Given the description of an element on the screen output the (x, y) to click on. 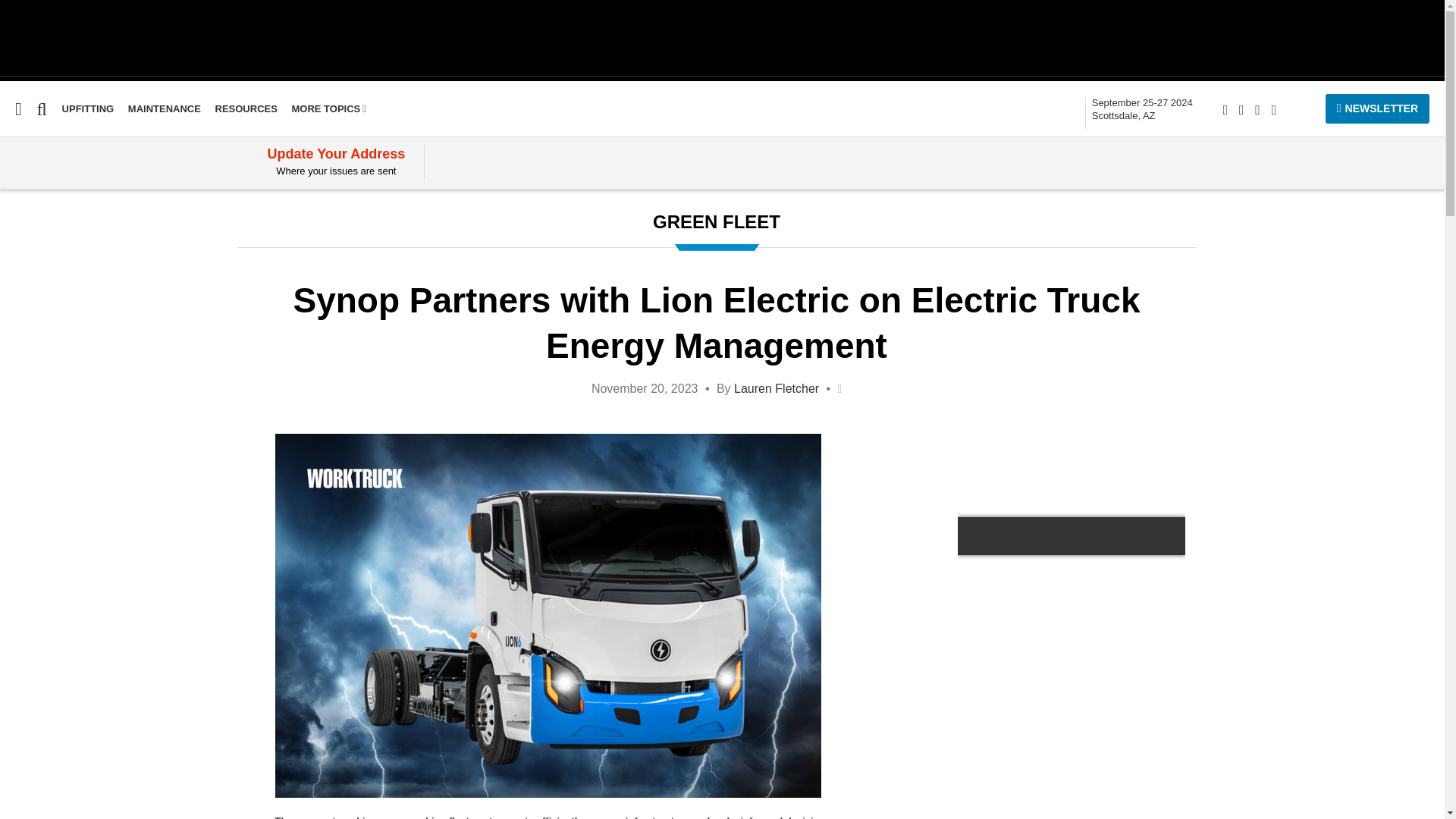
Safety (17, 293)
MAINTENANCE (164, 108)
Fuel (11, 236)
MORE TOPICS (328, 108)
Telematics (31, 323)
Home (16, 206)
Upfitting (24, 351)
Fuel (11, 236)
RESOURCES (246, 108)
Resources (246, 108)
Maintenance (37, 264)
Home (16, 206)
Maintenance (1142, 109)
UPFITTING (37, 264)
